Given the description of an element on the screen output the (x, y) to click on. 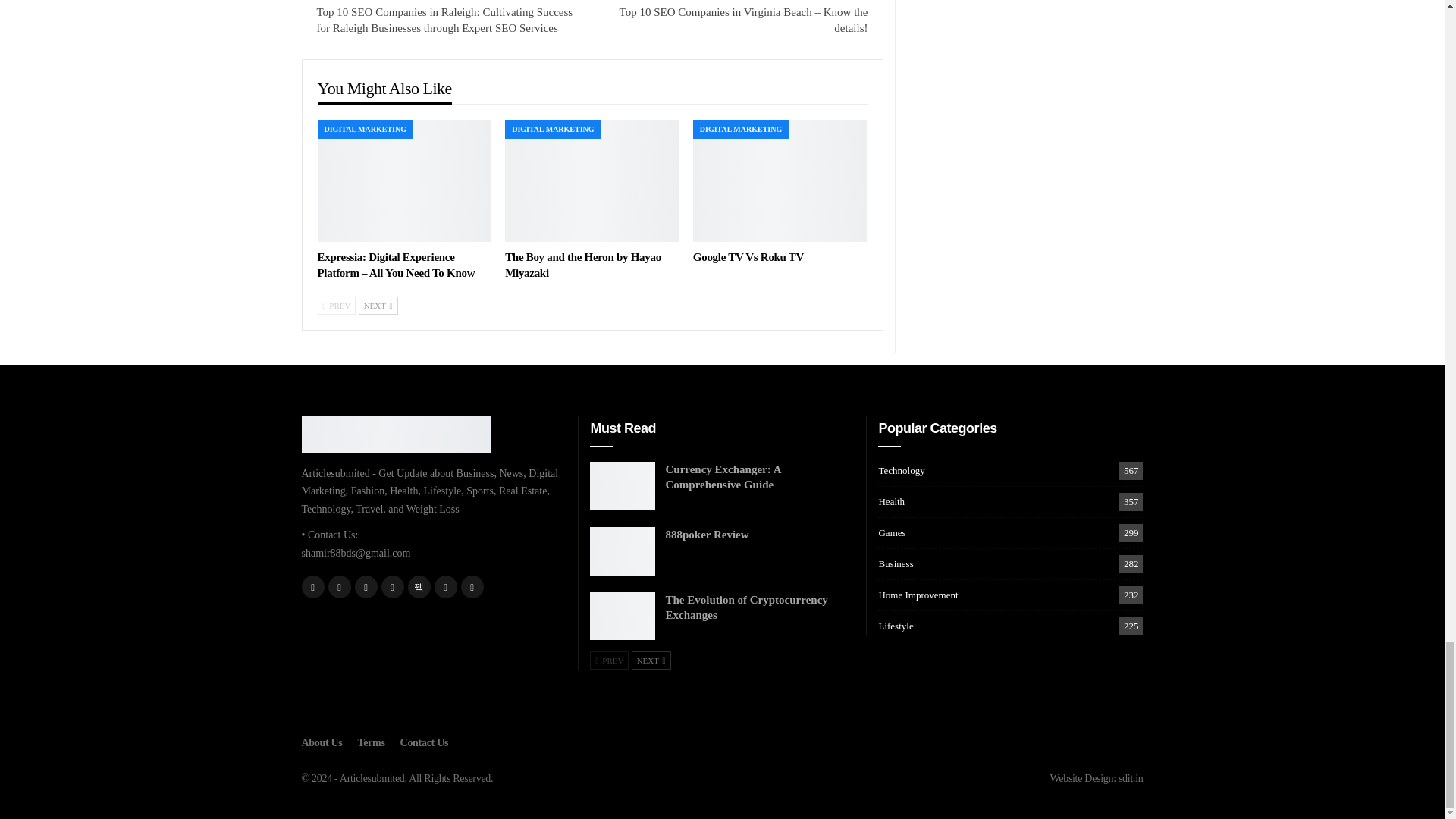
Google TV Vs Roku TV (748, 256)
Previous (336, 305)
The Boy and the Heron by Hayao Miyazaki (592, 180)
Google TV Vs Roku TV (780, 180)
The Boy and the Heron by Hayao Miyazaki (583, 264)
